Given the description of an element on the screen output the (x, y) to click on. 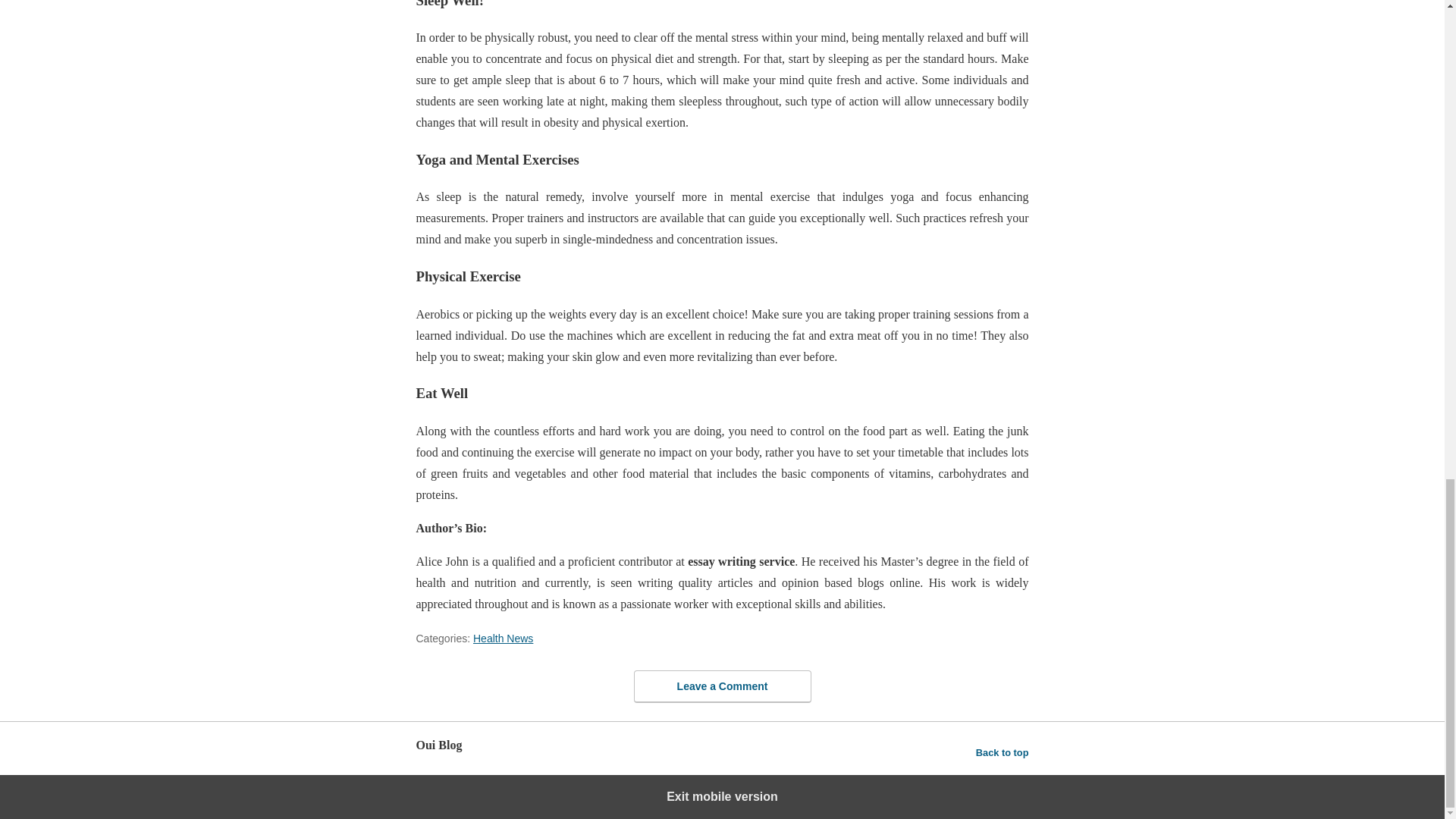
Health News (502, 638)
Back to top (1002, 752)
Leave a Comment (721, 686)
